Given the description of an element on the screen output the (x, y) to click on. 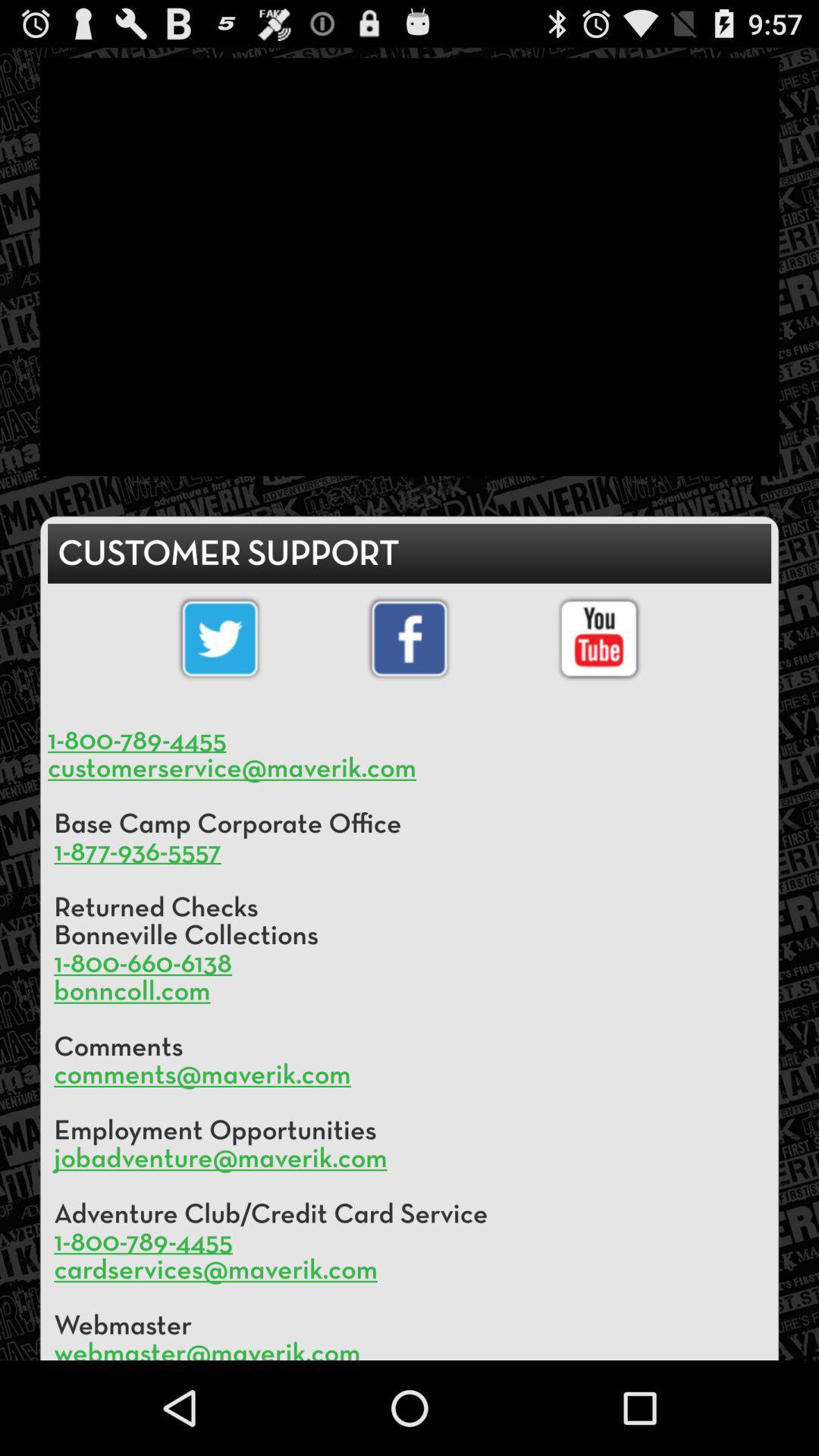
youtube logo (598, 638)
